Given the description of an element on the screen output the (x, y) to click on. 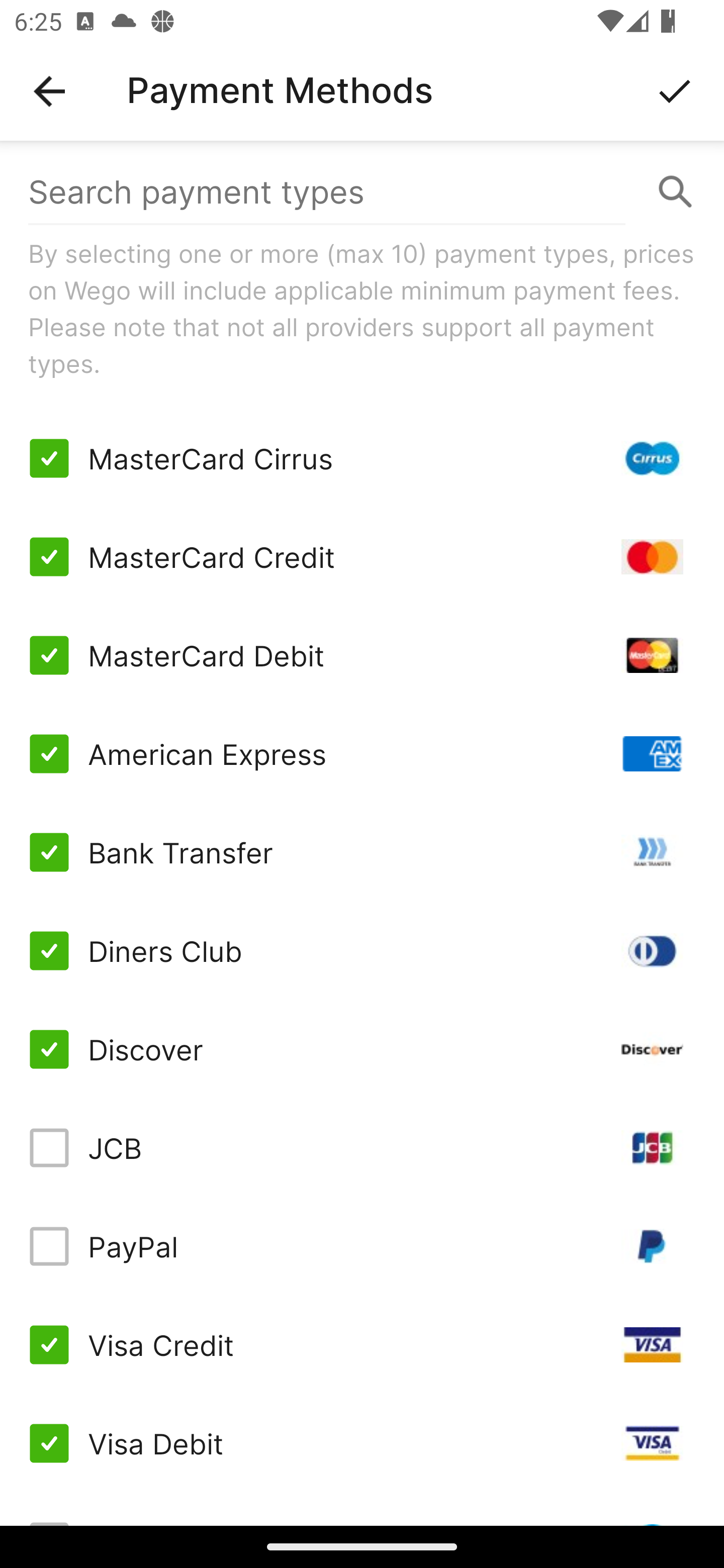
Search payment types  (361, 191)
MasterCard Cirrus (362, 458)
MasterCard Credit (362, 557)
MasterCard Debit (362, 655)
American Express (362, 753)
Bank Transfer (362, 851)
Diners Club (362, 950)
Discover (362, 1049)
JCB (362, 1147)
PayPal (362, 1245)
Visa Credit (362, 1344)
Visa Debit (362, 1442)
